Given the description of an element on the screen output the (x, y) to click on. 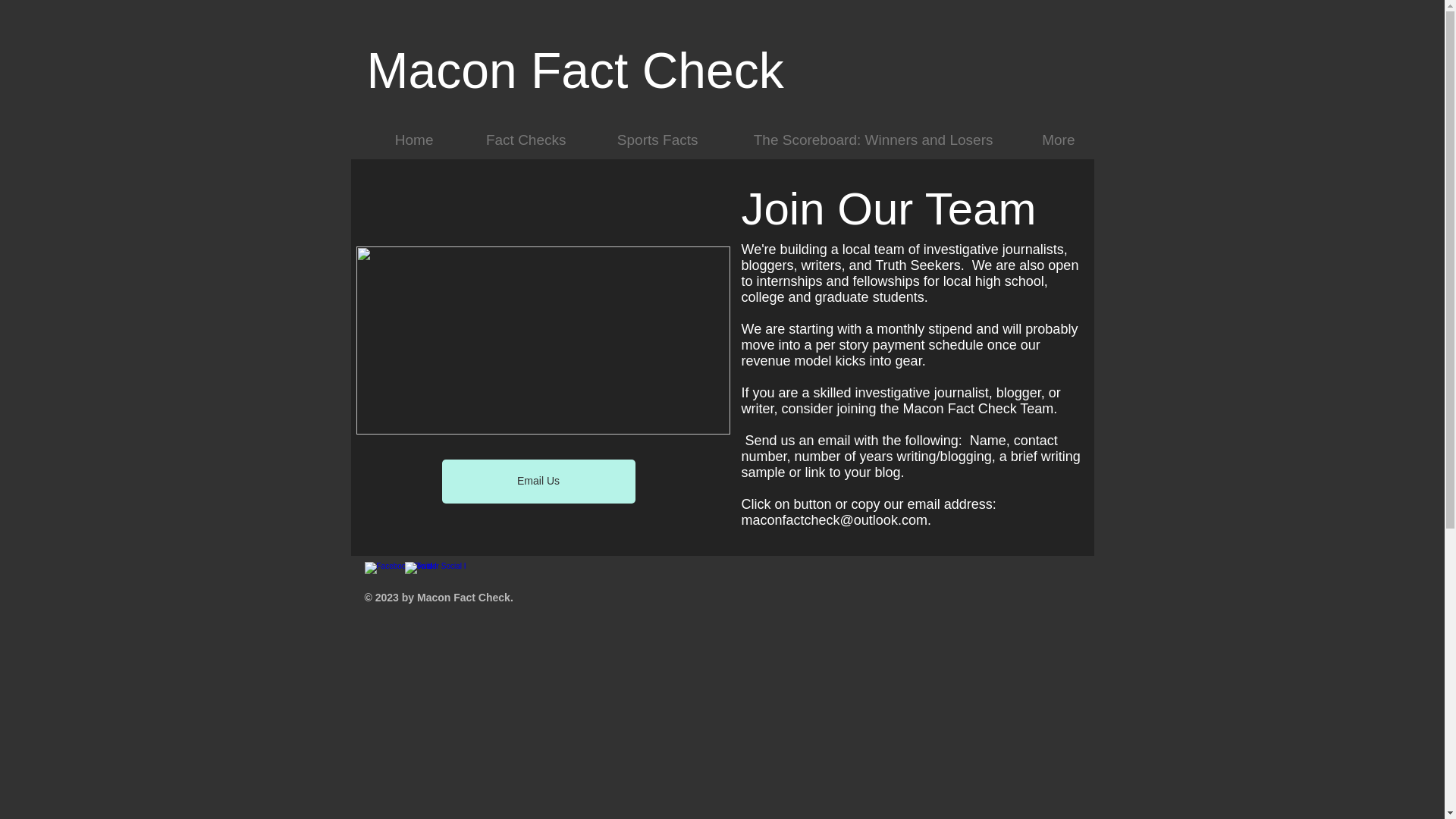
Email Us (537, 481)
Macon Fact Check (575, 70)
Home (400, 139)
Sports Facts (644, 139)
Fact Checks (510, 139)
The Scoreboard: Winners and Losers (857, 139)
